Given the description of an element on the screen output the (x, y) to click on. 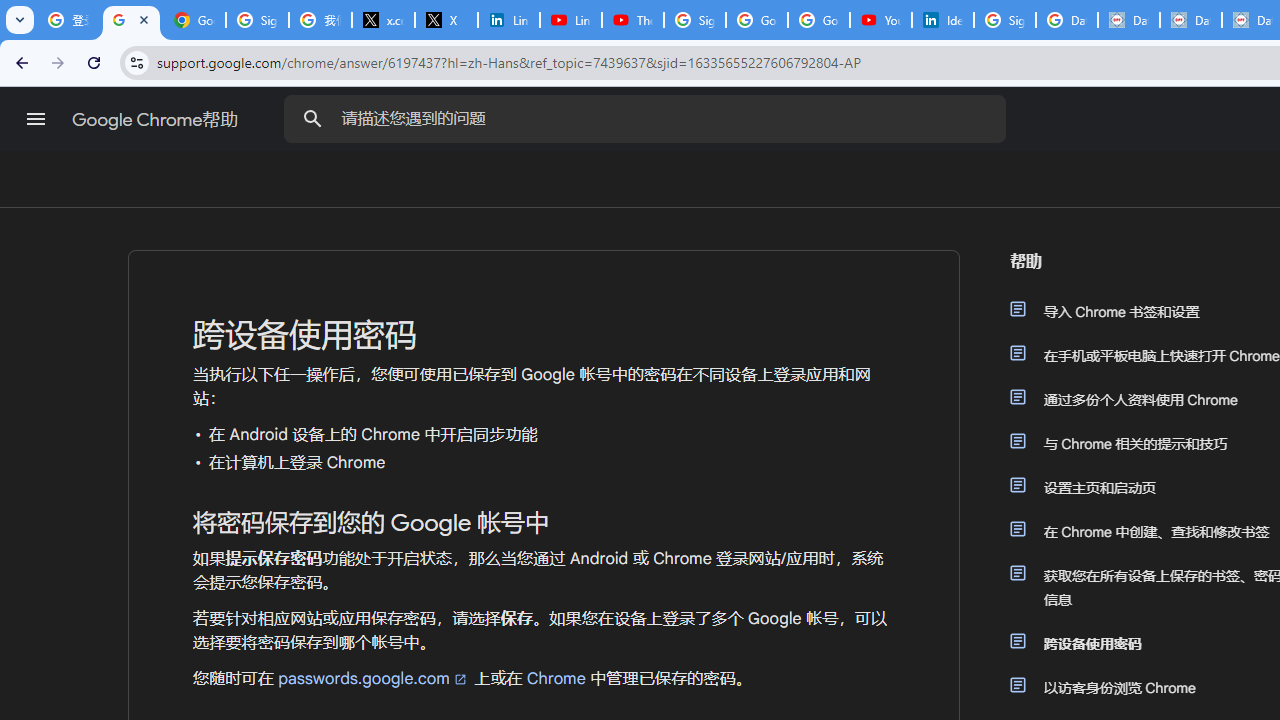
Sign in - Google Accounts (257, 20)
